Given the description of an element on the screen output the (x, y) to click on. 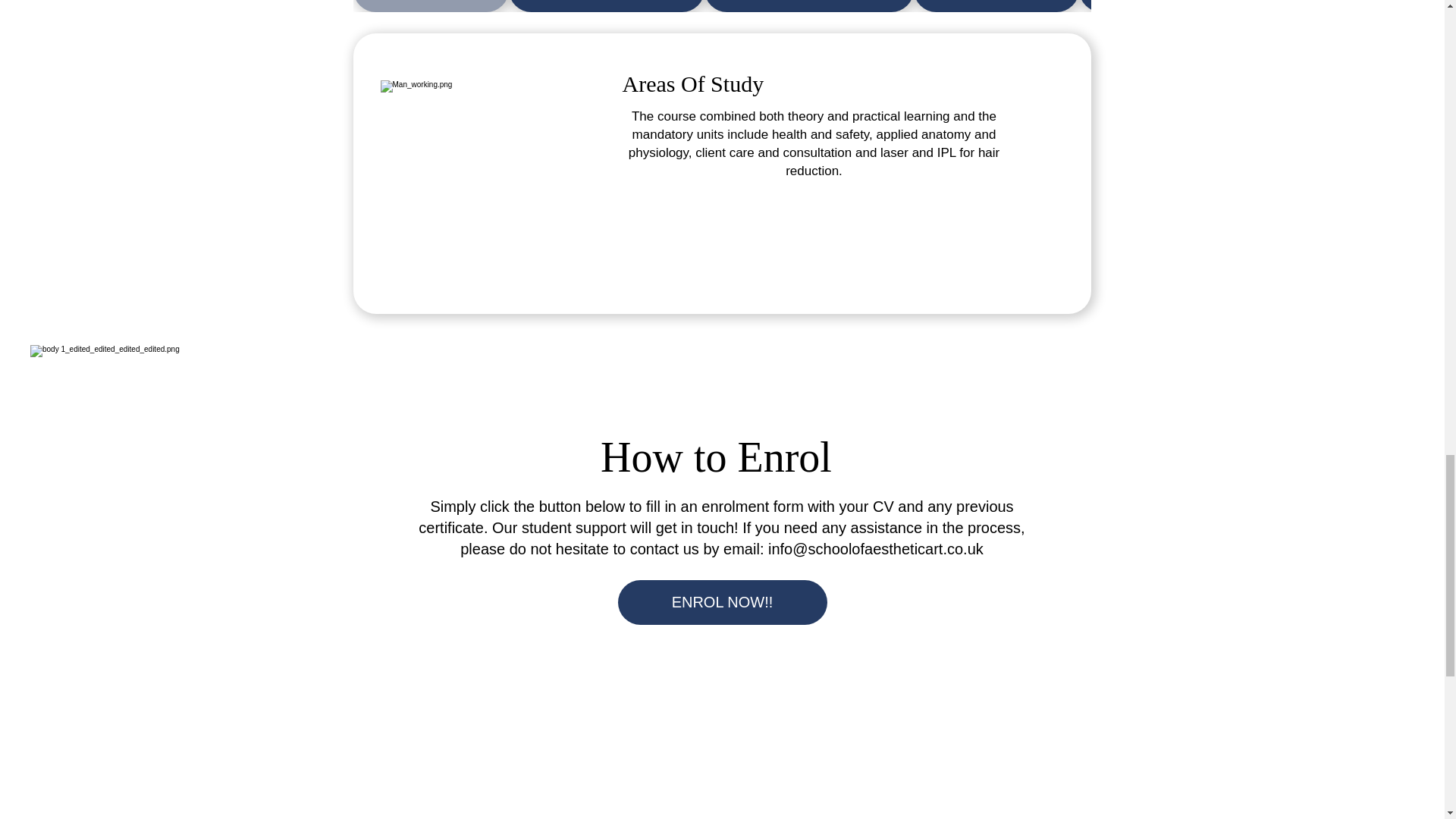
ENROL NOW!! (722, 601)
